Given the description of an element on the screen output the (x, y) to click on. 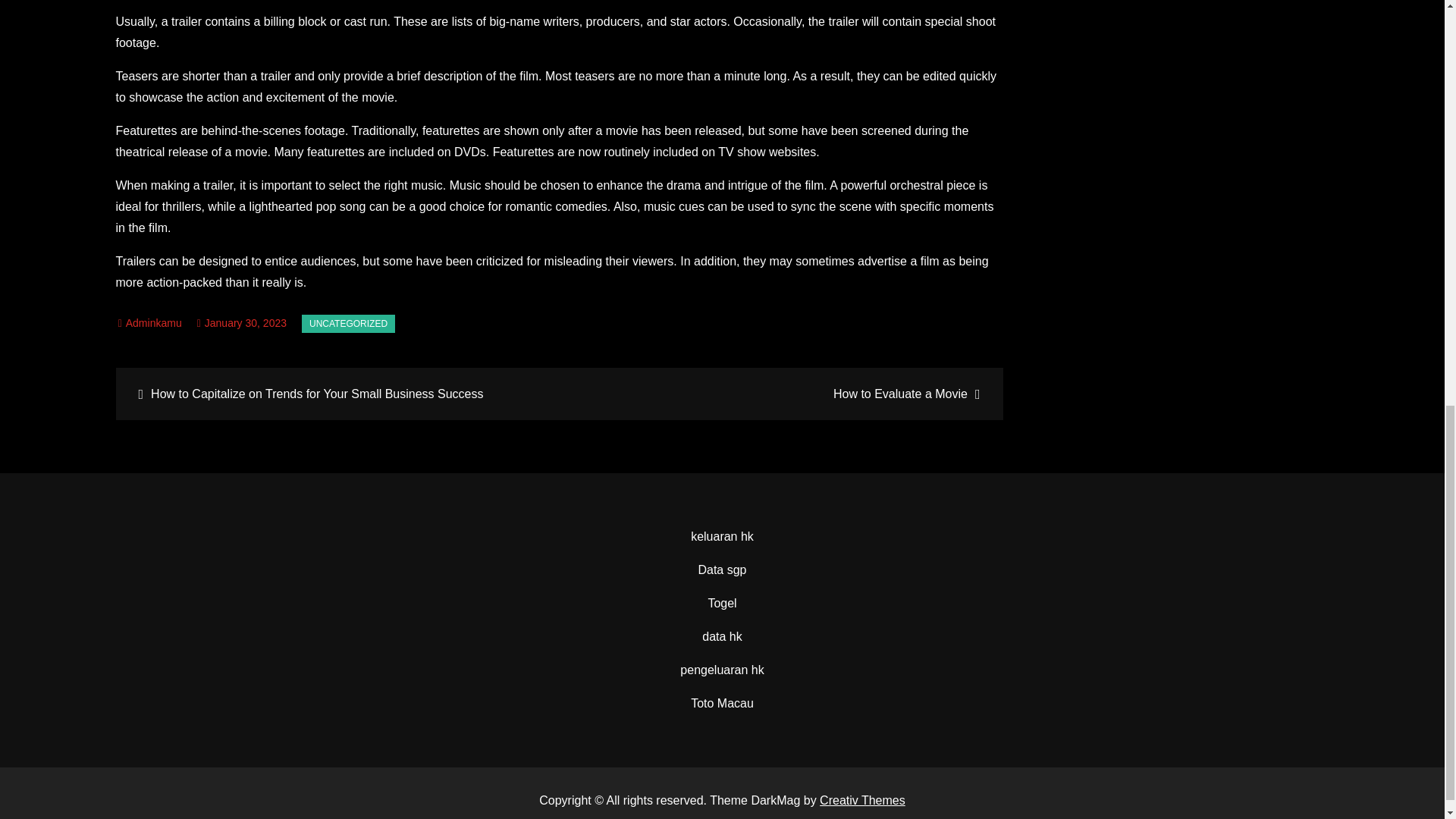
Toto Macau (722, 703)
Data sgp (721, 569)
UNCATEGORIZED (347, 323)
pengeluaran hk (720, 669)
How to Evaluate a Movie (778, 393)
Togel (721, 603)
keluaran hk (722, 535)
data hk (721, 635)
Creativ Themes (862, 799)
How to Capitalize on Trends for Your Small Business Success (339, 393)
January 30, 2023 (241, 322)
Adminkamu (149, 322)
